Given the description of an element on the screen output the (x, y) to click on. 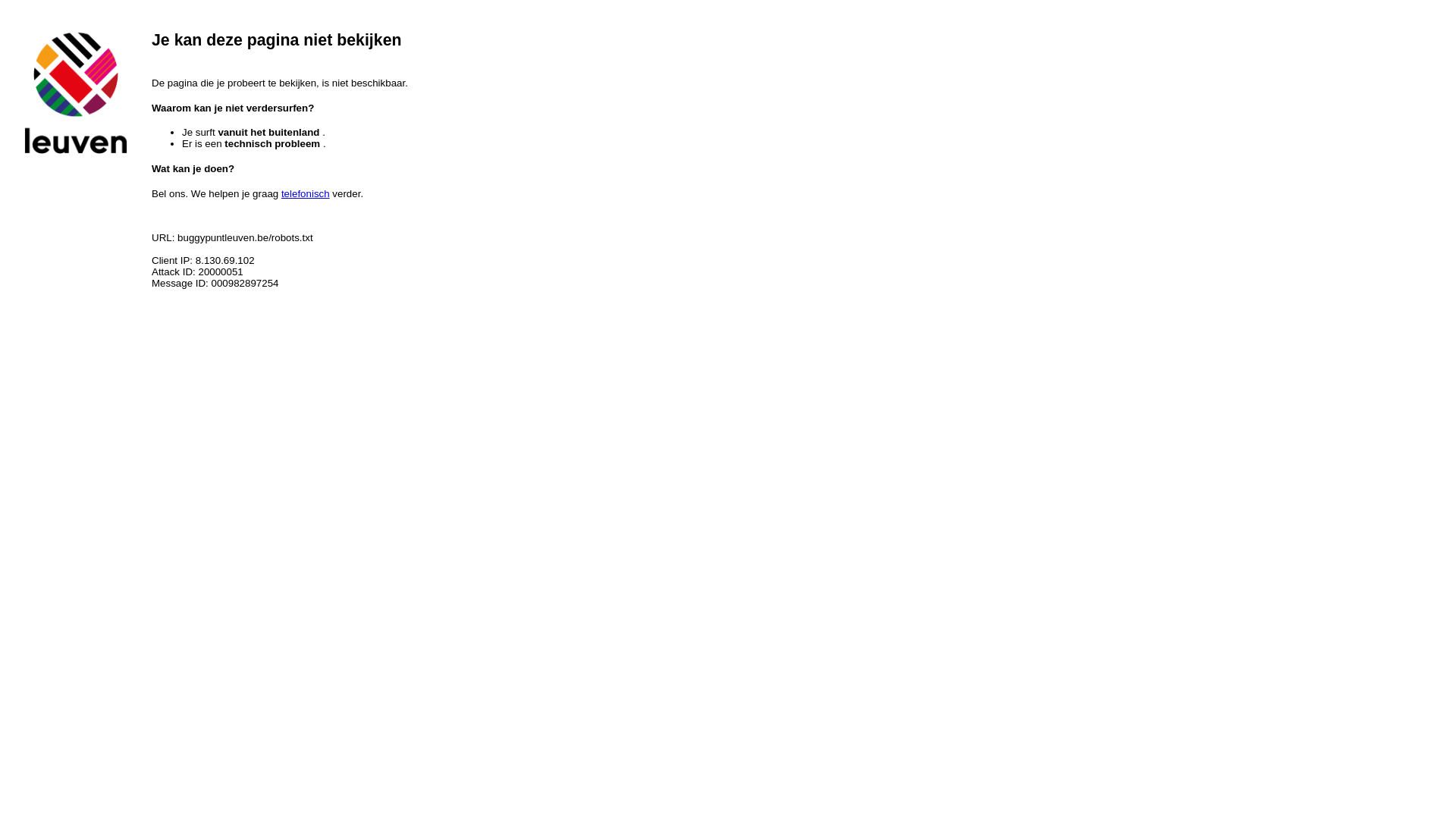
telefonisch Element type: text (305, 193)
